Given the description of an element on the screen output the (x, y) to click on. 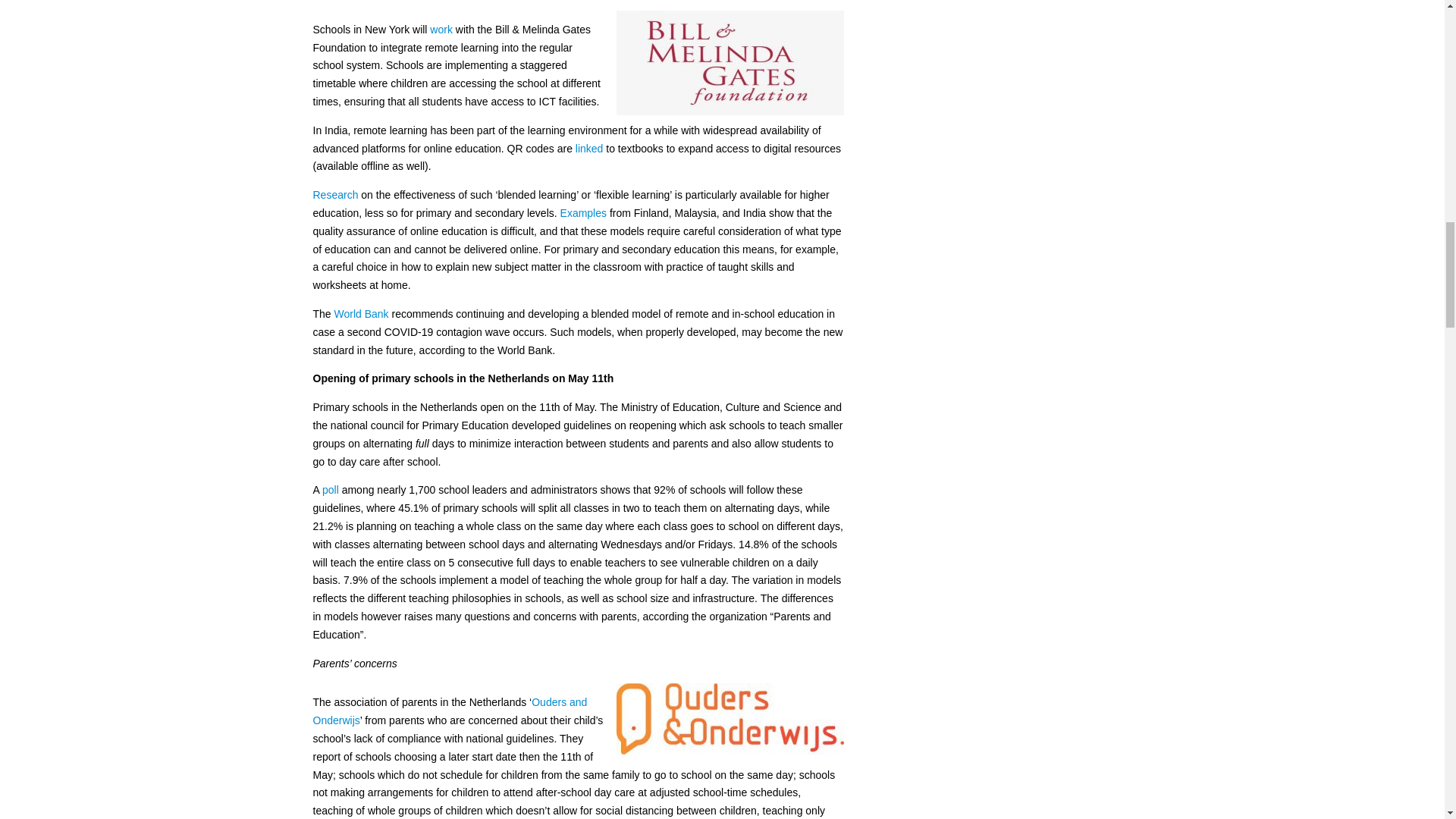
Research (335, 194)
Ouders and Onderwijs (449, 711)
linked (589, 148)
World Bank (361, 313)
poll (330, 490)
work (440, 29)
Examples (583, 213)
